Given the description of an element on the screen output the (x, y) to click on. 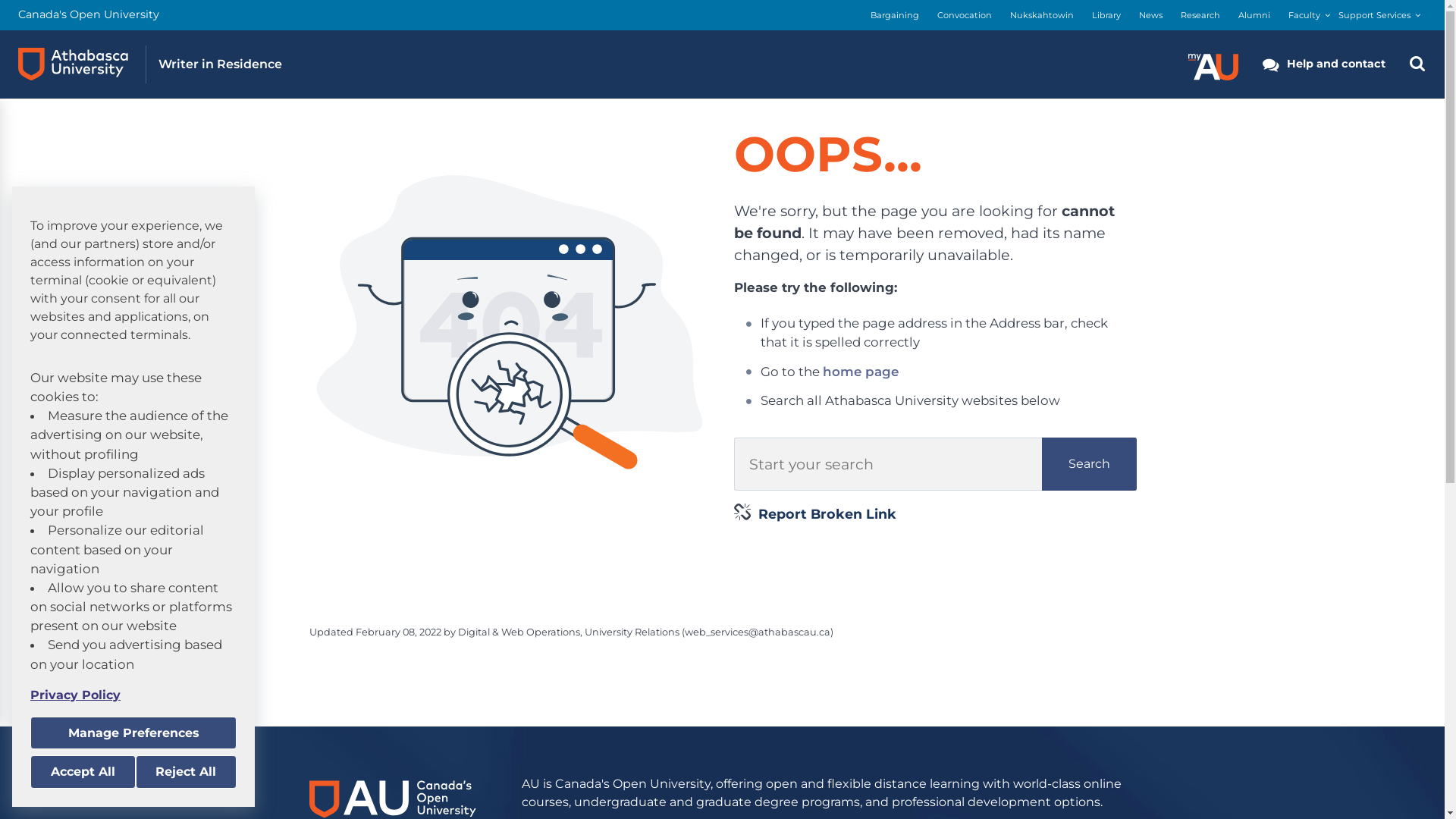
Search the Athabasca University Website Element type: hover (1417, 64)
Search Element type: text (1088, 463)
Athabasca University logo Element type: text (73, 64)
home page Element type: text (860, 371)
News Element type: text (1150, 15)
Accept All Element type: text (82, 771)
Privacy Policy Element type: text (133, 695)
Nukskahtowin Element type: text (1041, 15)
Reject All Element type: text (185, 771)
Support Services Element type: text (1374, 15)
Research Element type: text (1200, 15)
Bargaining Element type: text (894, 15)
Library Element type: text (1106, 15)
Convocation Element type: text (964, 15)
Alumni Element type: text (1254, 15)
Manage Preferences Element type: text (133, 732)
Faculty Element type: text (1304, 15)
Help and contact Element type: text (1323, 64)
